Given the description of an element on the screen output the (x, y) to click on. 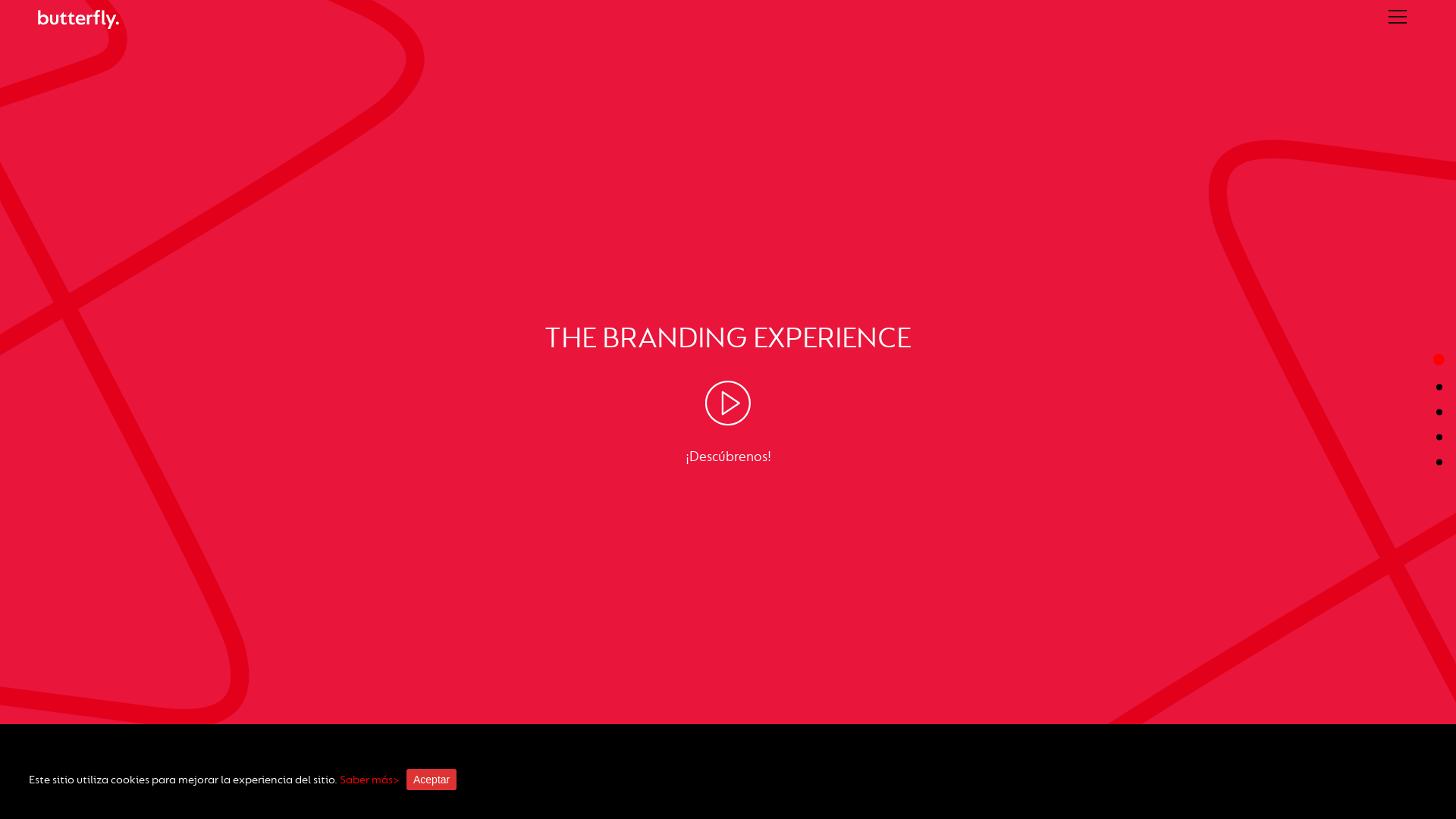
Aceptar Element type: text (431, 779)
